Given the description of an element on the screen output the (x, y) to click on. 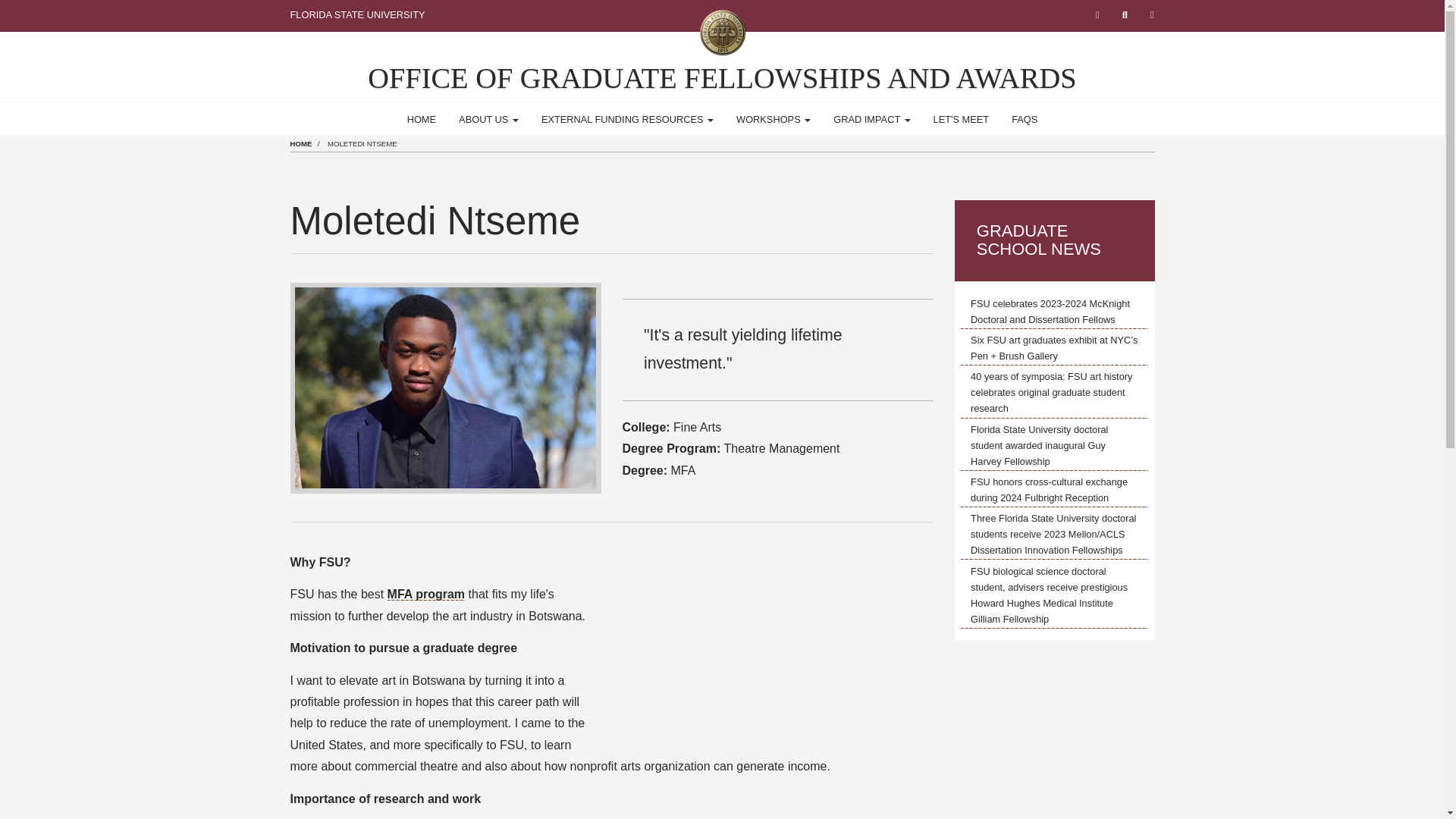
FLORIDA STATE UNIVERSITY (357, 14)
HOME (421, 119)
OFFICE OF GRADUATE FELLOWSHIPS AND AWARDS (721, 78)
Skip to main content (5, 5)
FSU Sites (1151, 15)
Search (1124, 15)
Webmail (1097, 15)
